Given the description of an element on the screen output the (x, y) to click on. 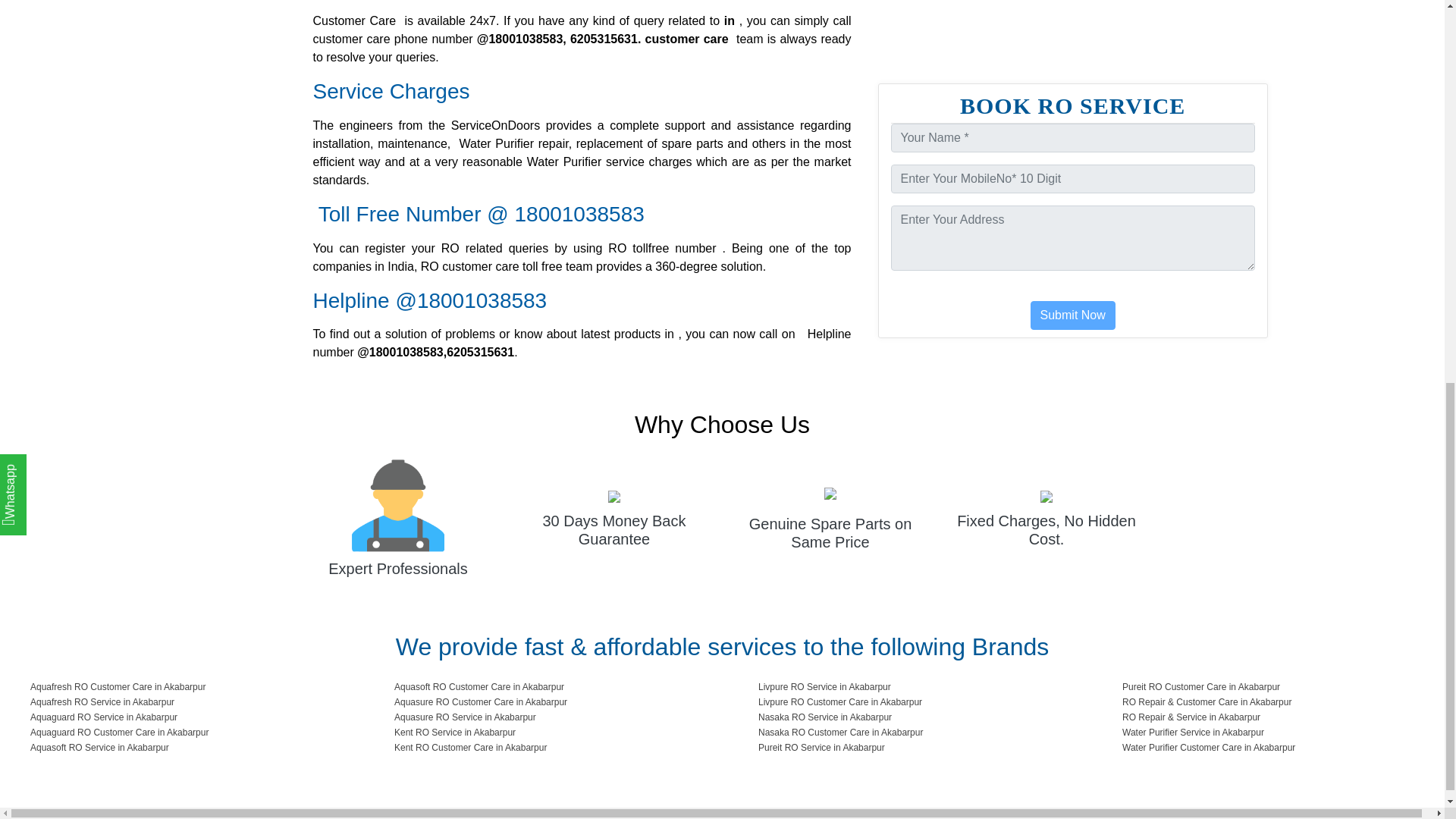
Aquafresh RO Customer Care in Akabarpur (185, 686)
Aquaguard RO Service in Akabarpur (185, 717)
Aquafresh RO Service in Akabarpur (185, 702)
Kent RO Customer Care in Akabarpur (549, 747)
Water Purifier Customer Care in Akabarpur (1277, 747)
Nasaka RO Customer Care in Akabarpur (913, 732)
Livpure RO Customer Care in Akabarpur (913, 702)
Aquasure RO Service in Akabarpur (549, 717)
Aquasure RO Customer Care in Akabarpur (549, 702)
Pureit RO Service in Akabarpur (913, 747)
Pureit RO Customer Care in Akabarpur (1277, 686)
Livpure RO Service in Akabarpur (913, 686)
Aquaguard RO Customer Care in Akabarpur (185, 732)
Aquasoft RO Customer Care in Akabarpur (549, 686)
Water Purifier Service in Akabarpur (1277, 732)
